Given the description of an element on the screen output the (x, y) to click on. 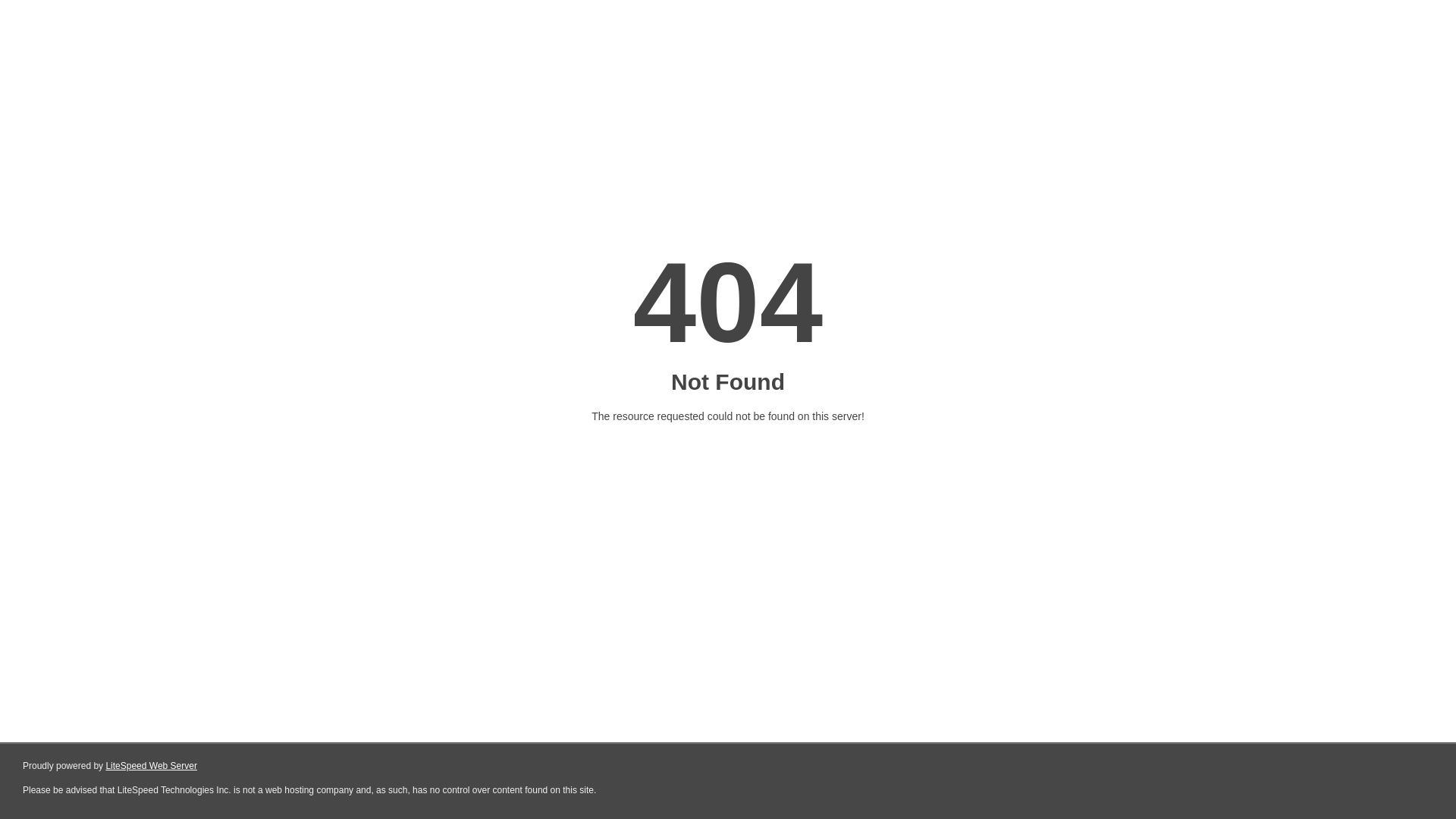
LiteSpeed Web Server Element type: text (151, 765)
